Given the description of an element on the screen output the (x, y) to click on. 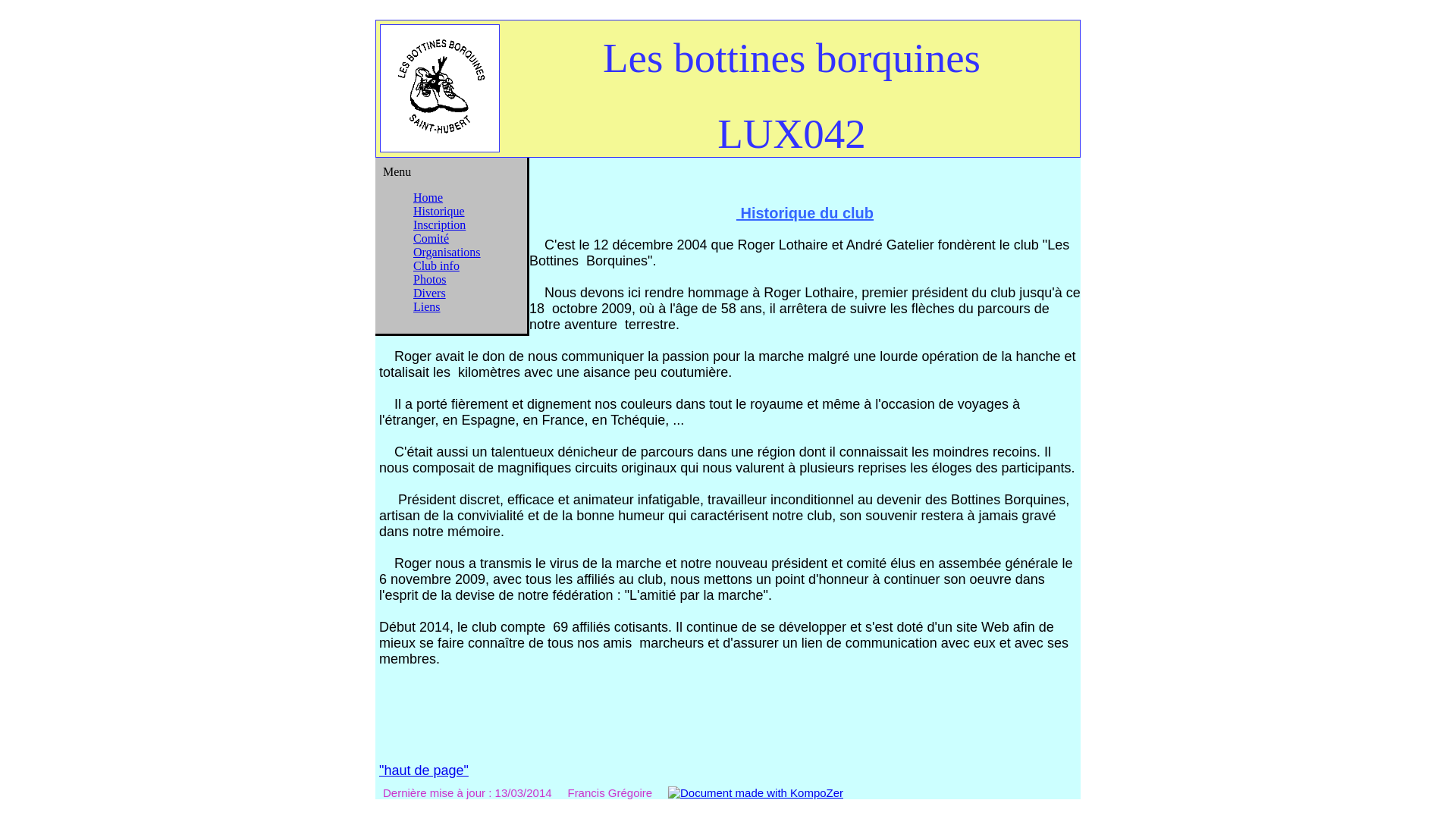
Divers Element type: text (429, 292)
Club info Element type: text (436, 265)
Organisations Element type: text (446, 251)
Document made with KompoZer Element type: hover (755, 792)
Photos Element type: text (429, 279)
"haut de page" Element type: text (423, 770)
Inscription Element type: text (439, 224)
Home Element type: text (427, 197)
Liens Element type: text (426, 306)
Historique Element type: text (438, 210)
